Given the description of an element on the screen output the (x, y) to click on. 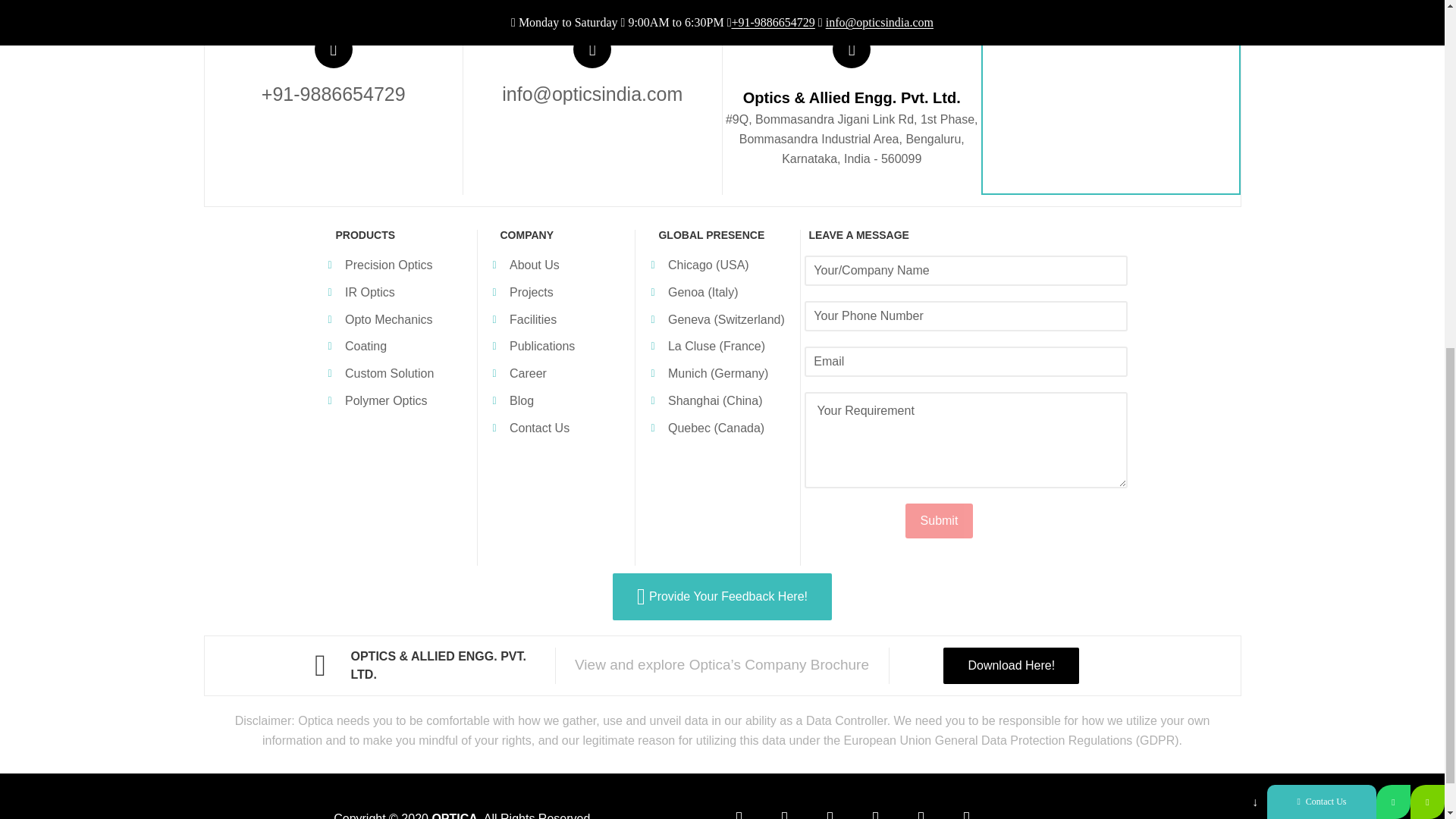
Submit (939, 520)
